Given the description of an element on the screen output the (x, y) to click on. 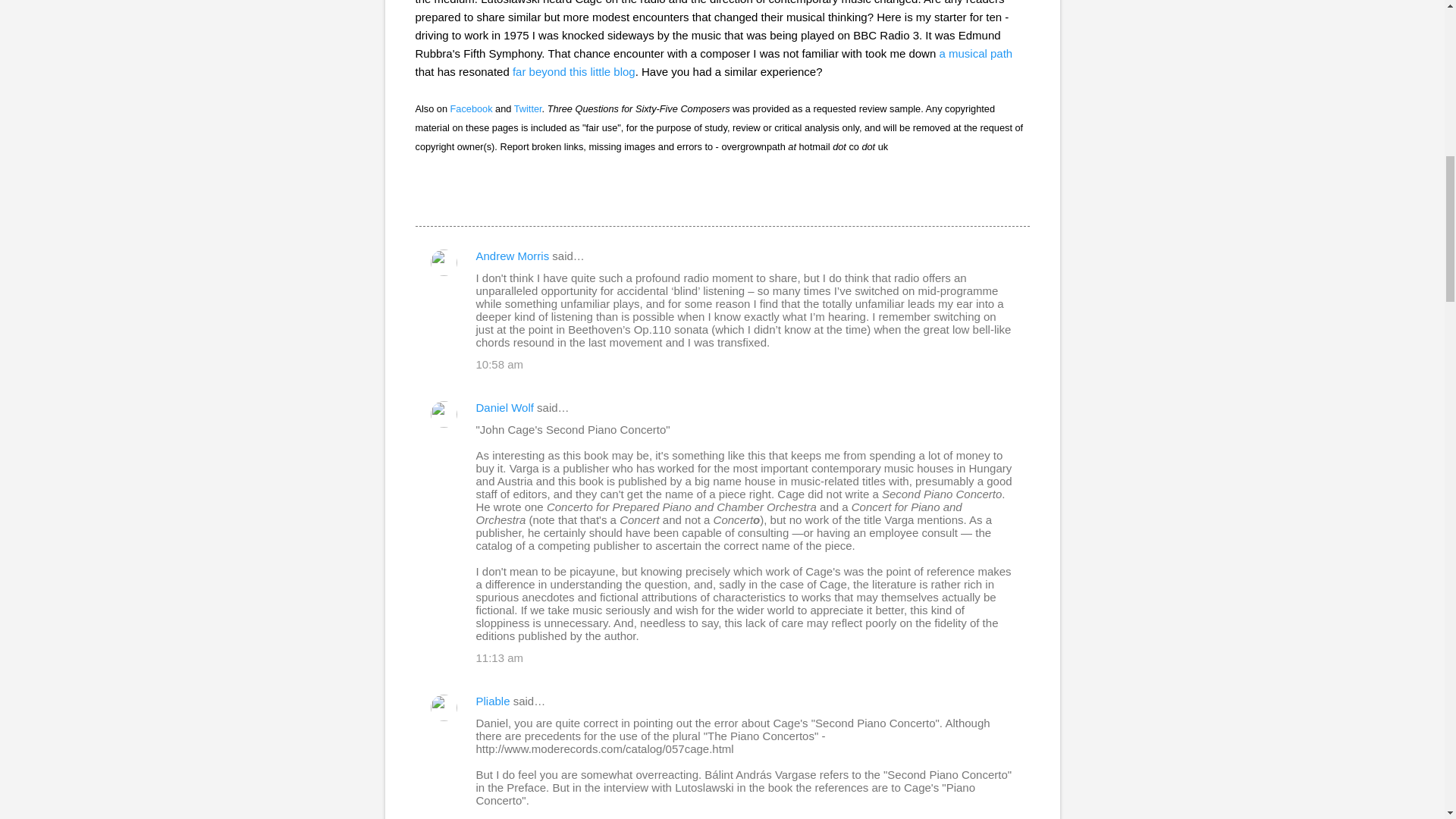
Pliable (493, 700)
a musical path (975, 52)
Facebook (471, 108)
comment permalink (500, 364)
Twitter (527, 108)
far beyond this little blog (573, 71)
Daniel Wolf (505, 407)
10:58 am (500, 364)
Email Post (423, 198)
11:13 am (500, 657)
